Given the description of an element on the screen output the (x, y) to click on. 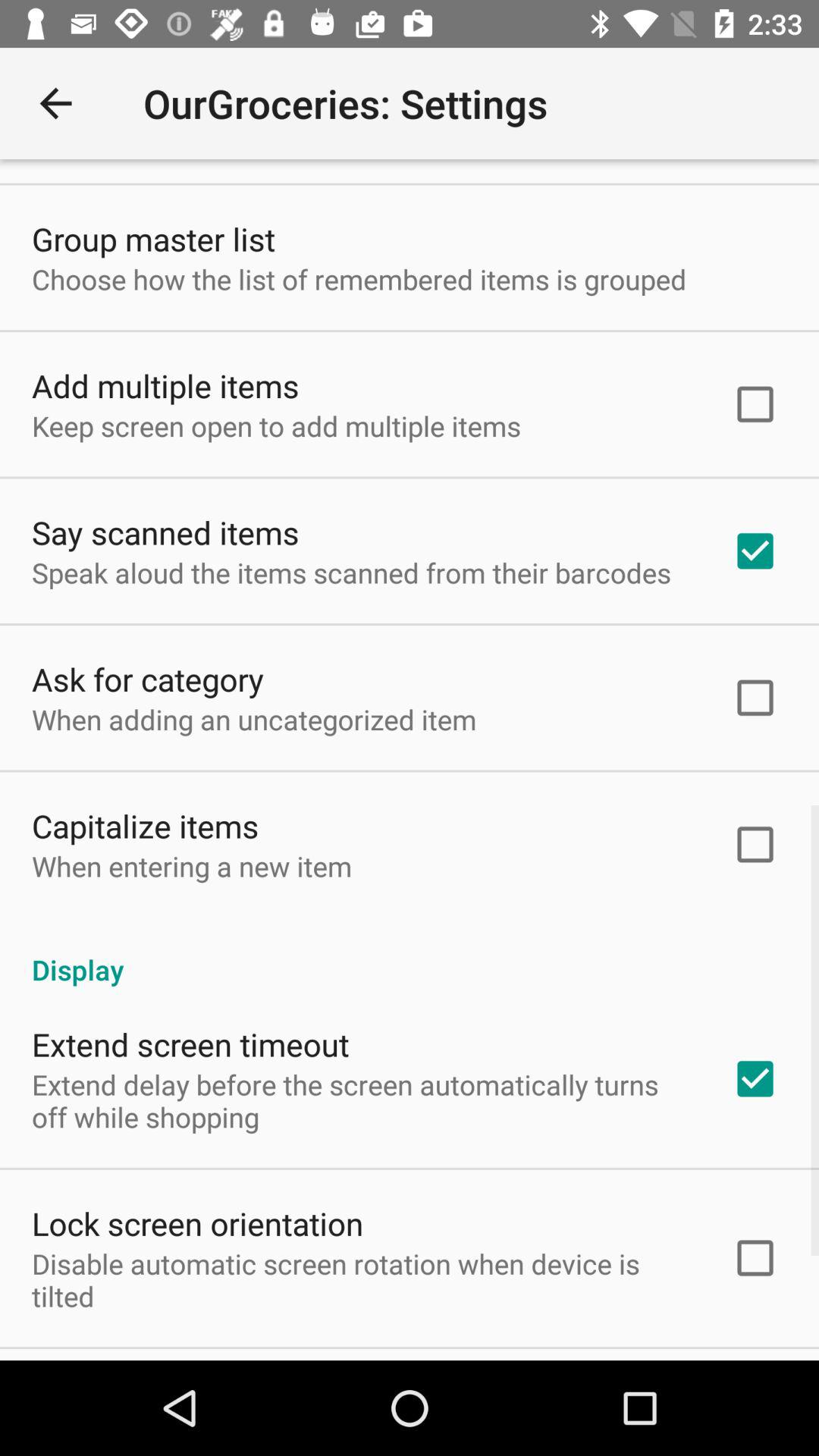
choose item above the extend screen timeout item (409, 953)
